Given the description of an element on the screen output the (x, y) to click on. 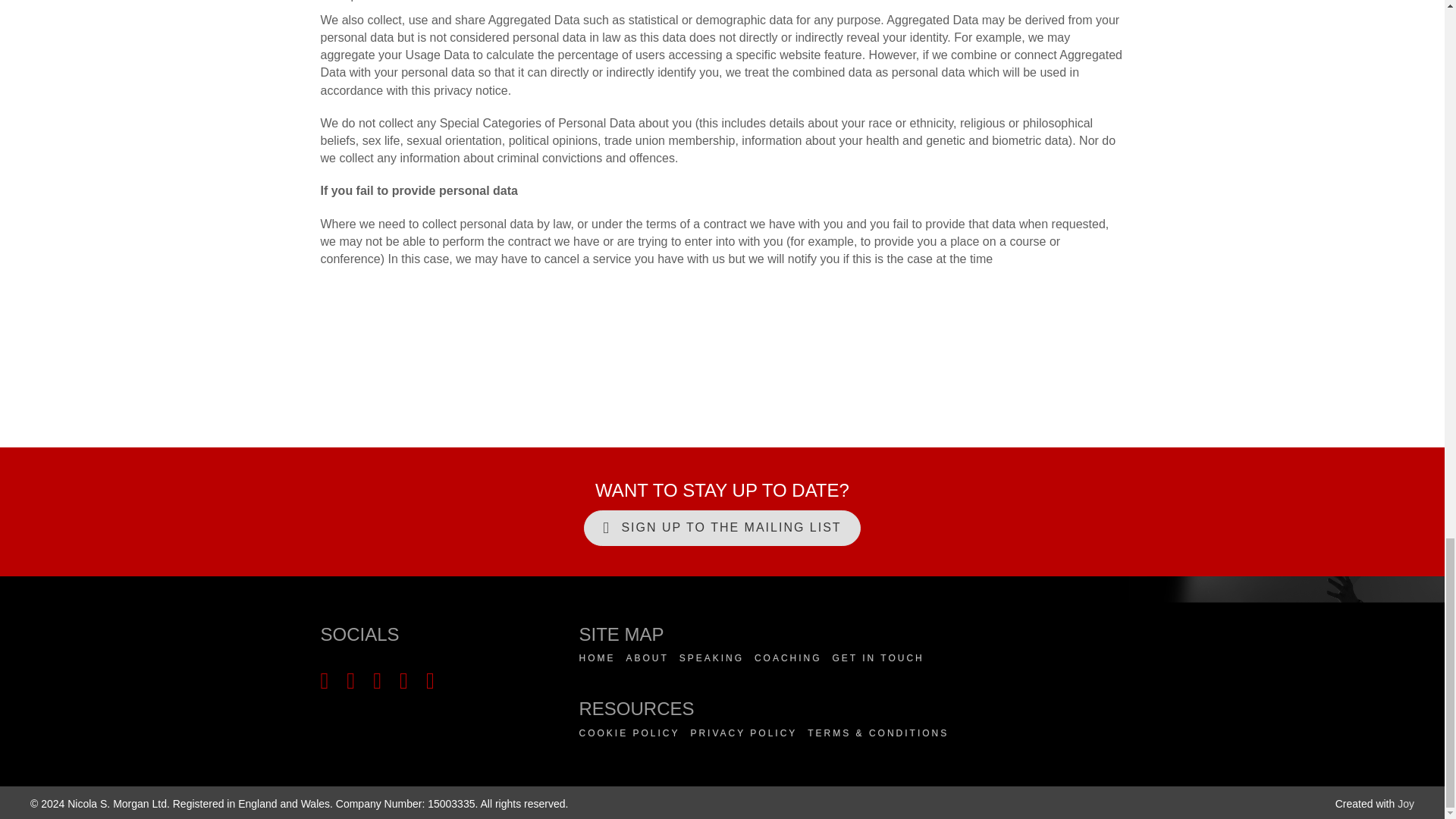
GET IN TOUCH (877, 658)
SIGN UP TO THE MAILING LIST (721, 528)
Joy (1405, 803)
ABOUT (647, 658)
PRIVACY POLICY (743, 732)
COOKIE POLICY (629, 732)
SPEAKING (711, 658)
COACHING (788, 658)
HOME (597, 658)
